Given the description of an element on the screen output the (x, y) to click on. 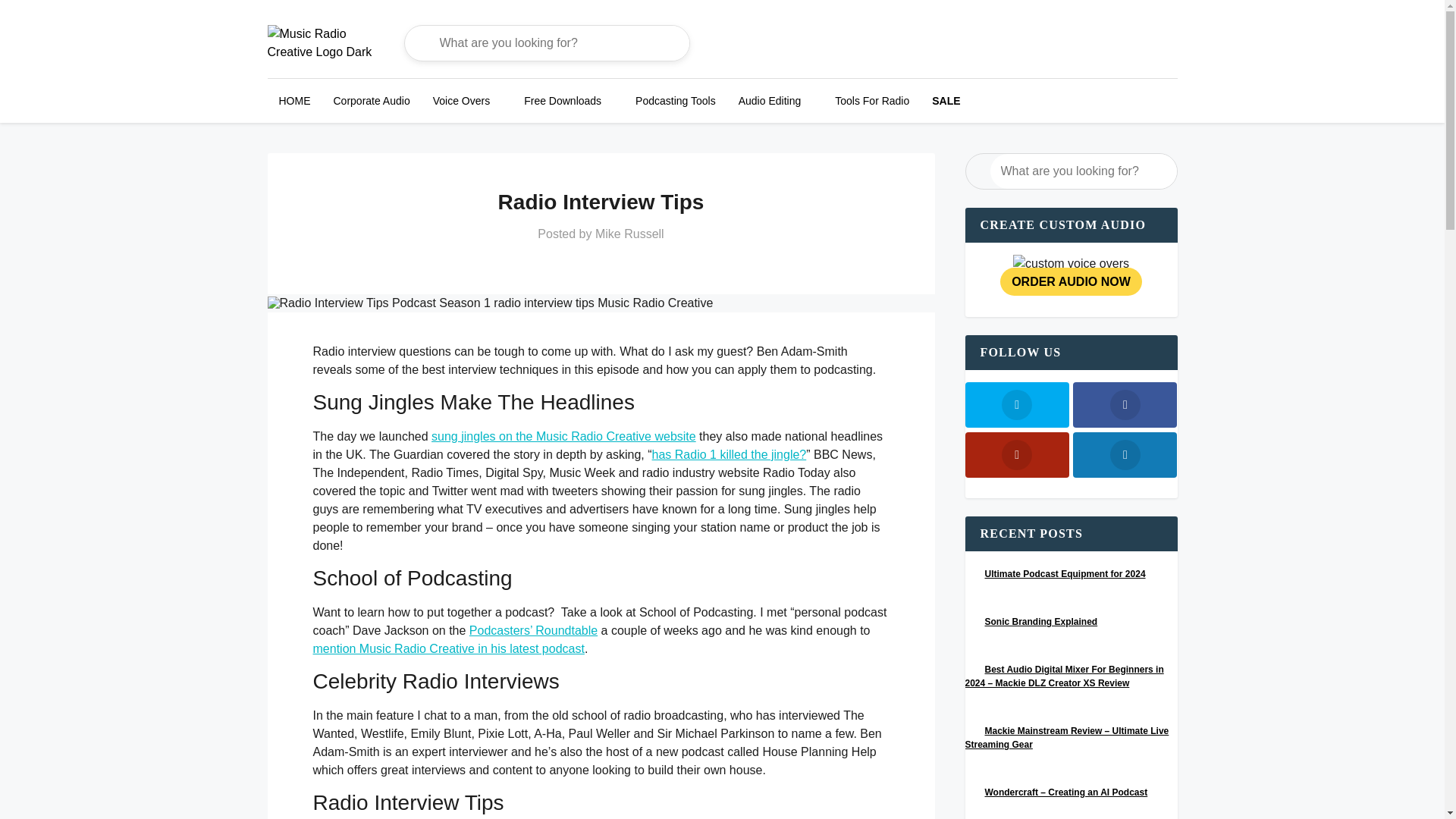
Corporate Audio (370, 100)
Podcasting Tools (675, 100)
HOME (293, 100)
Voice Overs (461, 100)
Free Downloads (562, 100)
